Given the description of an element on the screen output the (x, y) to click on. 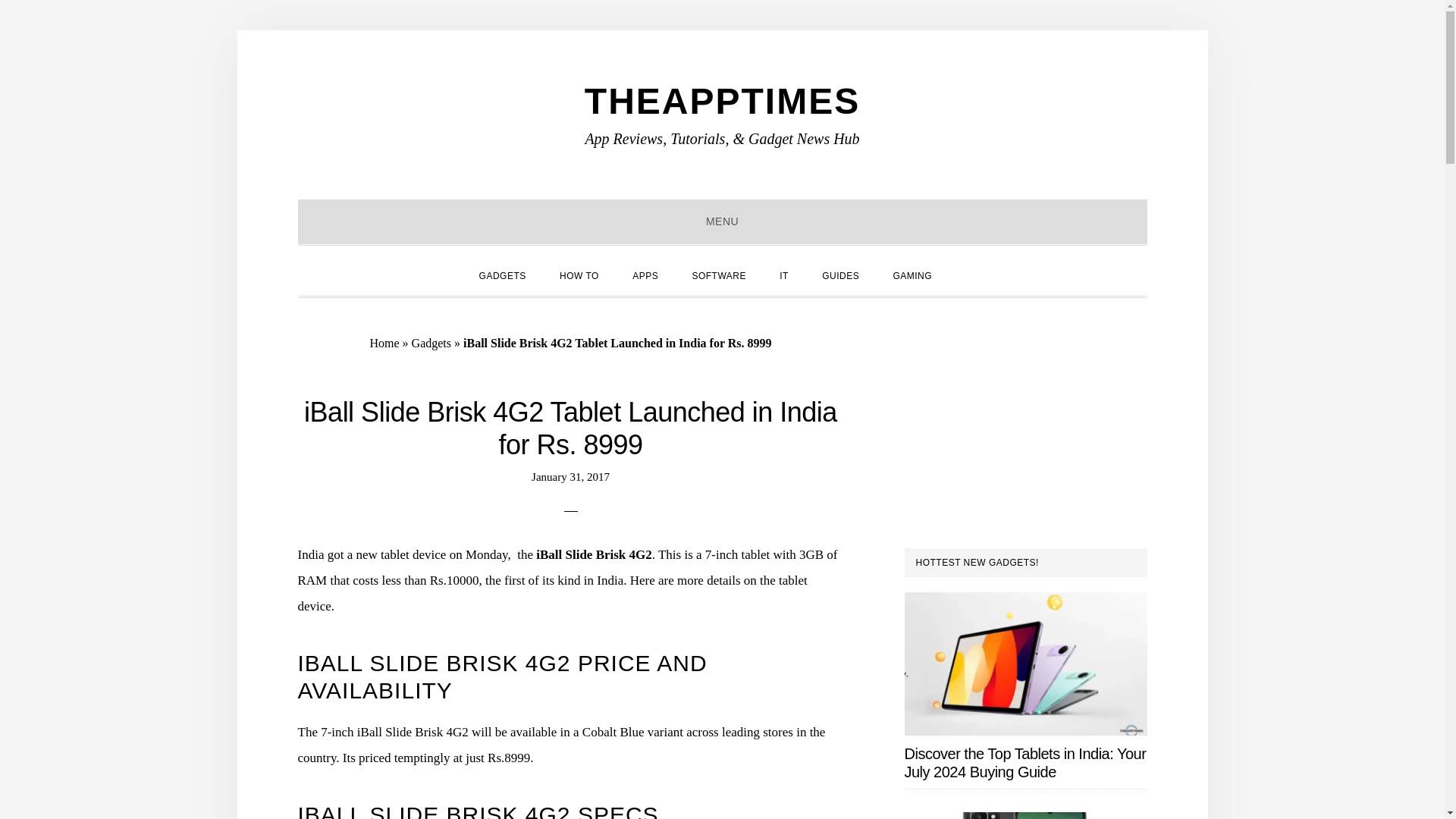
Home (383, 342)
IT (783, 274)
APPS (644, 274)
GAMING (912, 274)
MENU (722, 221)
GUIDES (840, 274)
Advertisement (1025, 422)
SOFTWARE (719, 274)
GADGETS (502, 274)
